Given the description of an element on the screen output the (x, y) to click on. 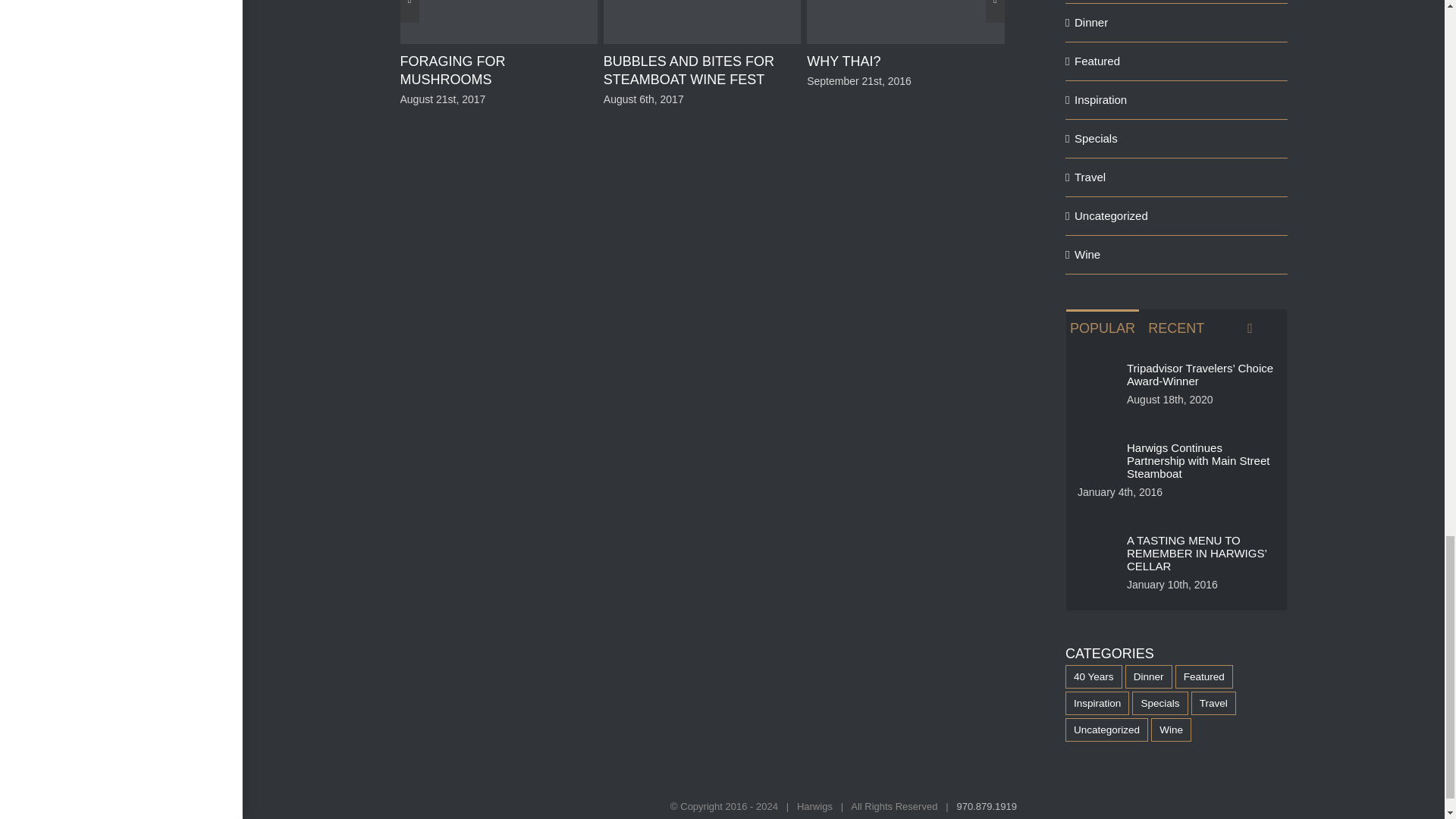
FORAGING FOR MUSHROOMS (451, 70)
BUBBLES AND BITES FOR STEAMBOAT WINE FEST (689, 70)
Bubbles and Bites for Steamboat Wine Fest (689, 70)
Foraging for Mushrooms (451, 70)
Why Thai? (843, 61)
